Given the description of an element on the screen output the (x, y) to click on. 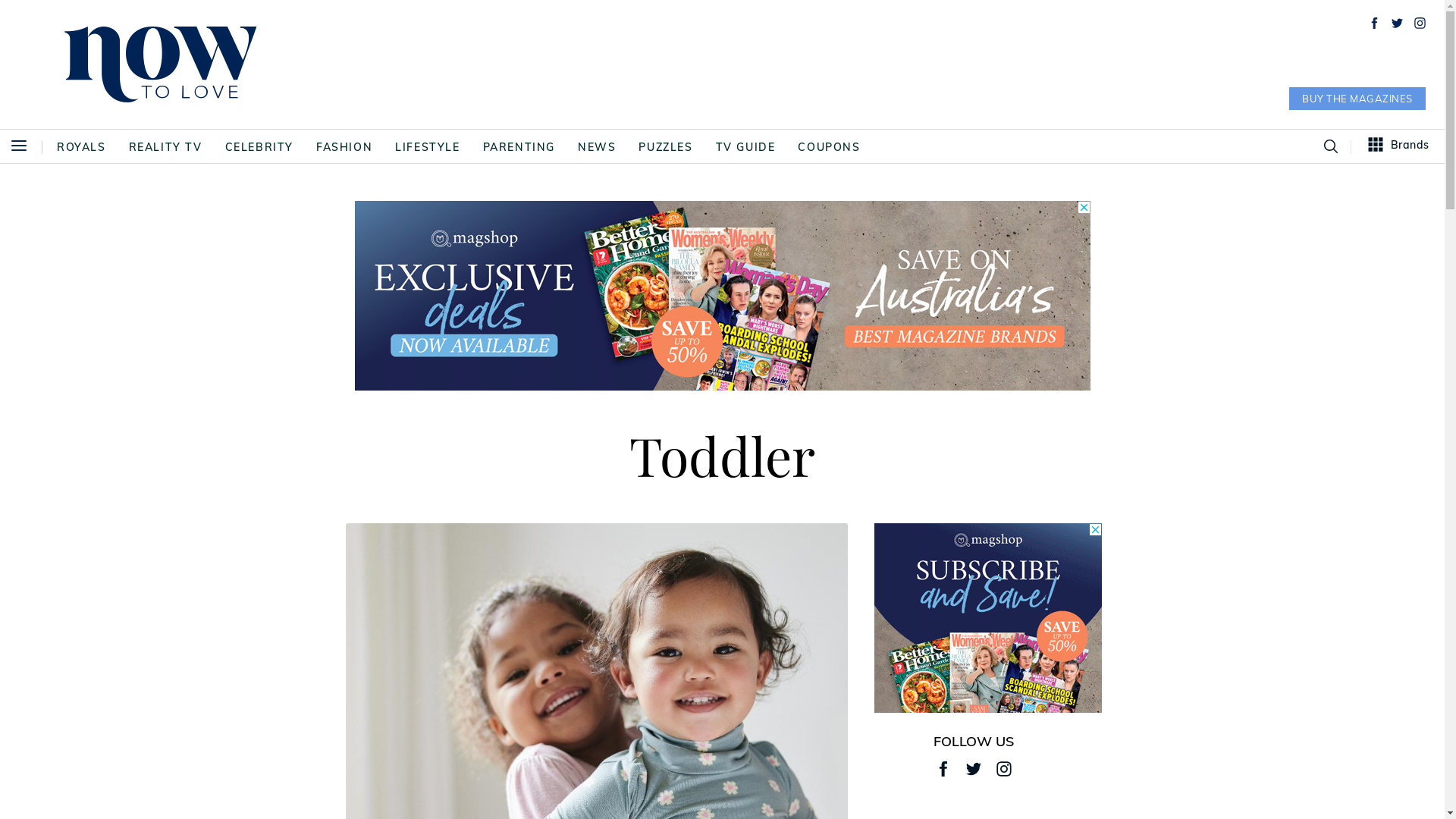
Brands Element type: text (1399, 146)
NEWS Element type: text (596, 146)
CELEBRITY Element type: text (258, 146)
ROYALS Element type: text (81, 146)
PARENTING Element type: text (518, 146)
COUPONS Element type: text (828, 146)
PUZZLES Element type: text (665, 146)
3rd party ad content Element type: hover (722, 295)
LIFESTYLE Element type: text (426, 146)
REALITY TV Element type: text (165, 146)
3rd party ad content Element type: hover (987, 617)
BUY THE MAGAZINES Element type: text (1357, 98)
FASHION Element type: text (343, 146)
TV GUIDE Element type: text (745, 146)
